Given the description of an element on the screen output the (x, y) to click on. 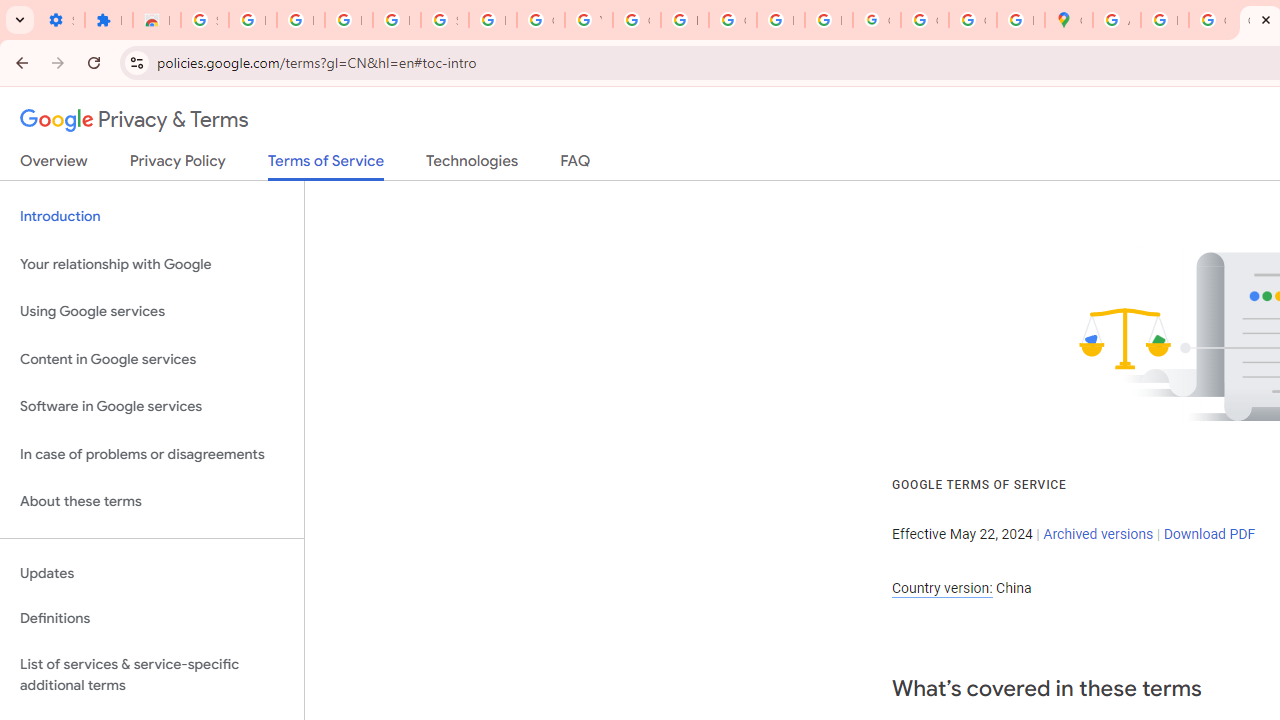
Google Account (540, 20)
Content in Google services (152, 358)
Delete photos & videos - Computer - Google Photos Help (300, 20)
Reviews: Helix Fruit Jump Arcade Game (156, 20)
Updates (152, 573)
Settings - On startup (60, 20)
Overview (54, 165)
FAQ (575, 165)
Extensions (108, 20)
Terms of Service (326, 166)
Learn how to find your photos - Google Photos Help (348, 20)
Country version: (942, 588)
